Given the description of an element on the screen output the (x, y) to click on. 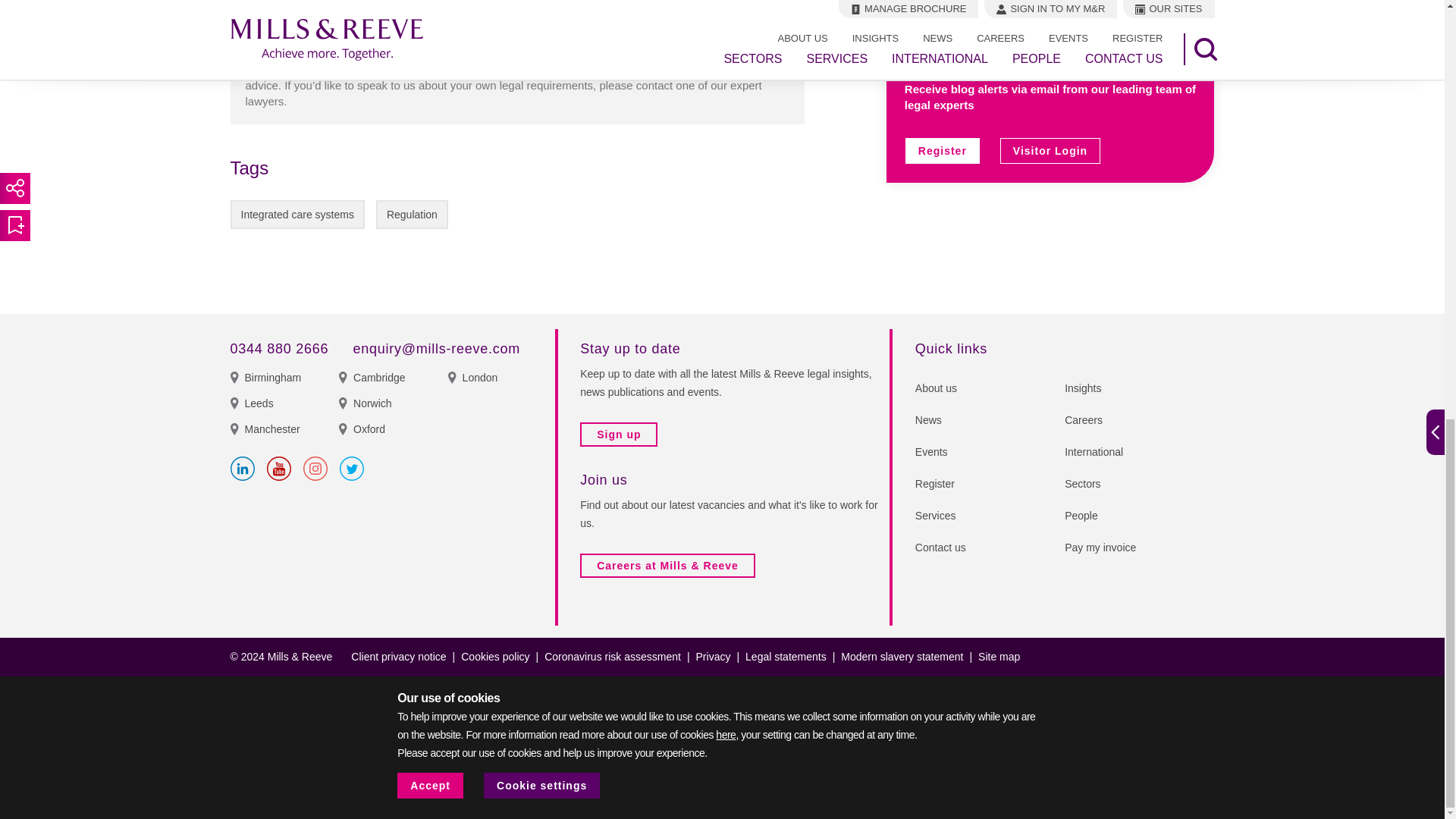
Instagram (314, 468)
Twitter (351, 468)
LinkedIn (242, 468)
YouTube (278, 468)
